Given the description of an element on the screen output the (x, y) to click on. 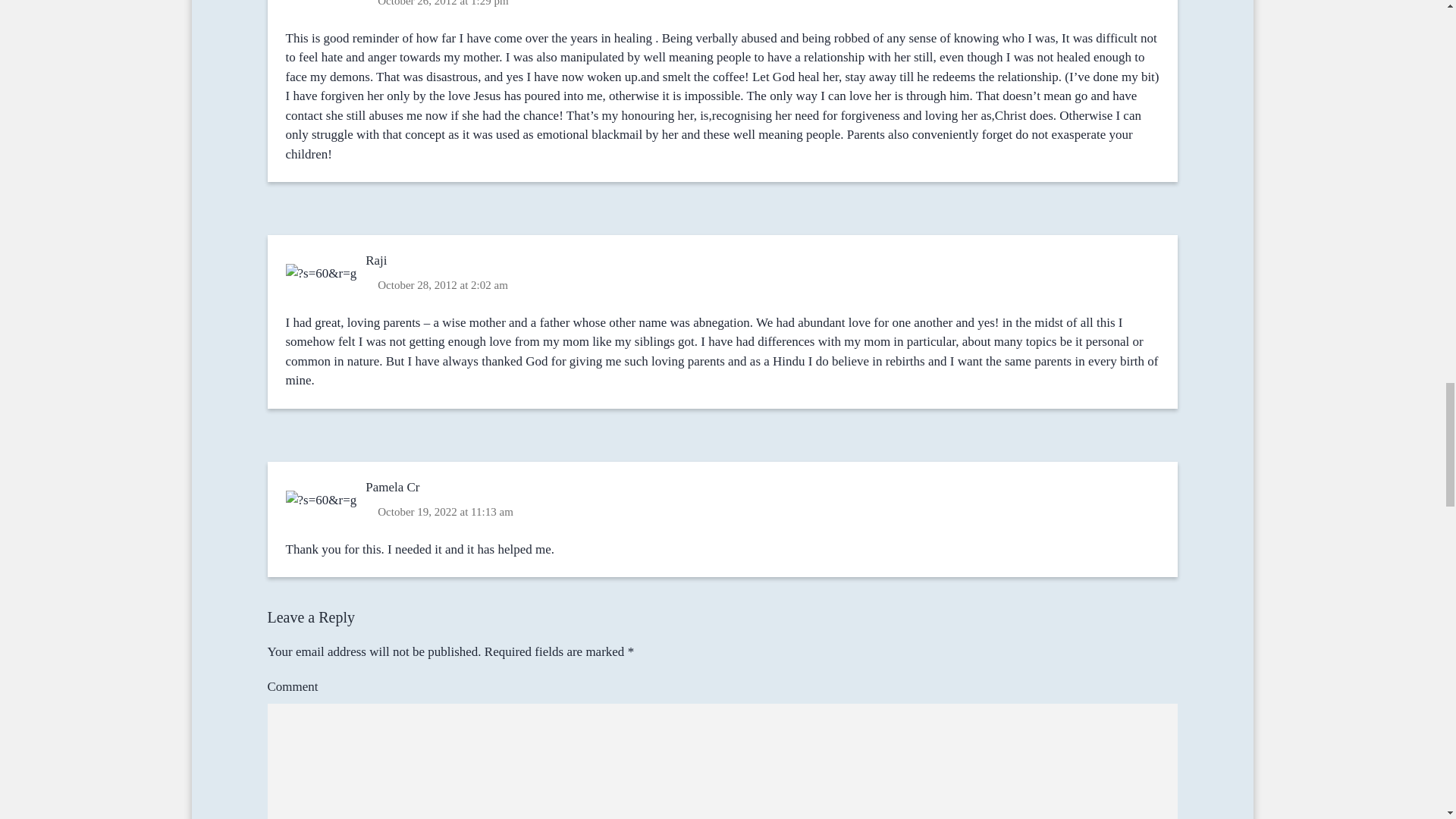
October 28, 2012 at 2:02 am (442, 284)
October 26, 2012 at 1:29 pm (442, 5)
Honoring your parents 3 (321, 500)
Honoring your parents 3 (321, 1)
Honoring your parents 3 (321, 273)
